Given the description of an element on the screen output the (x, y) to click on. 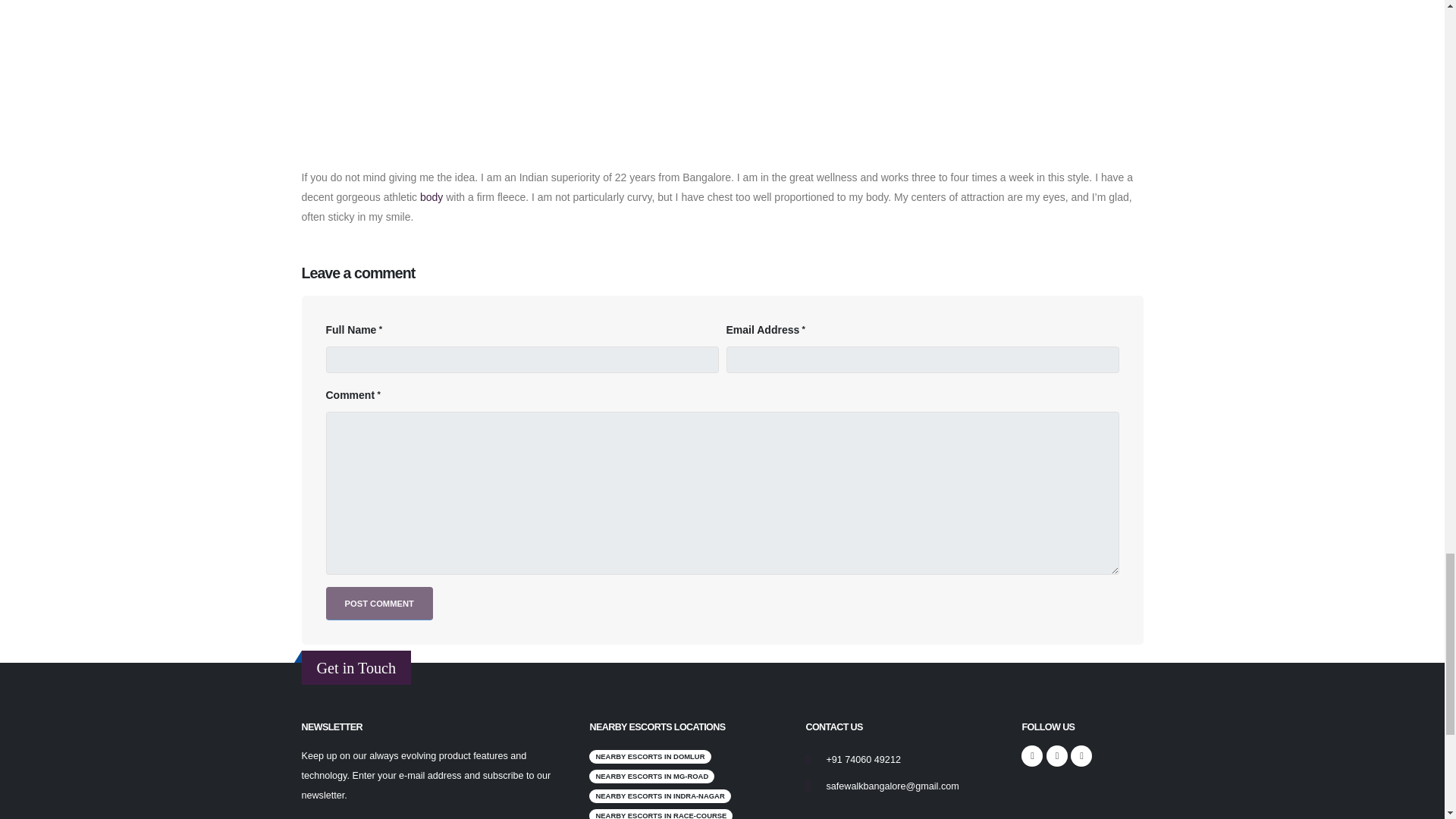
Twitter (1056, 755)
Linkedin (1081, 755)
Post Comment (379, 603)
Facebook (1032, 755)
